Given the description of an element on the screen output the (x, y) to click on. 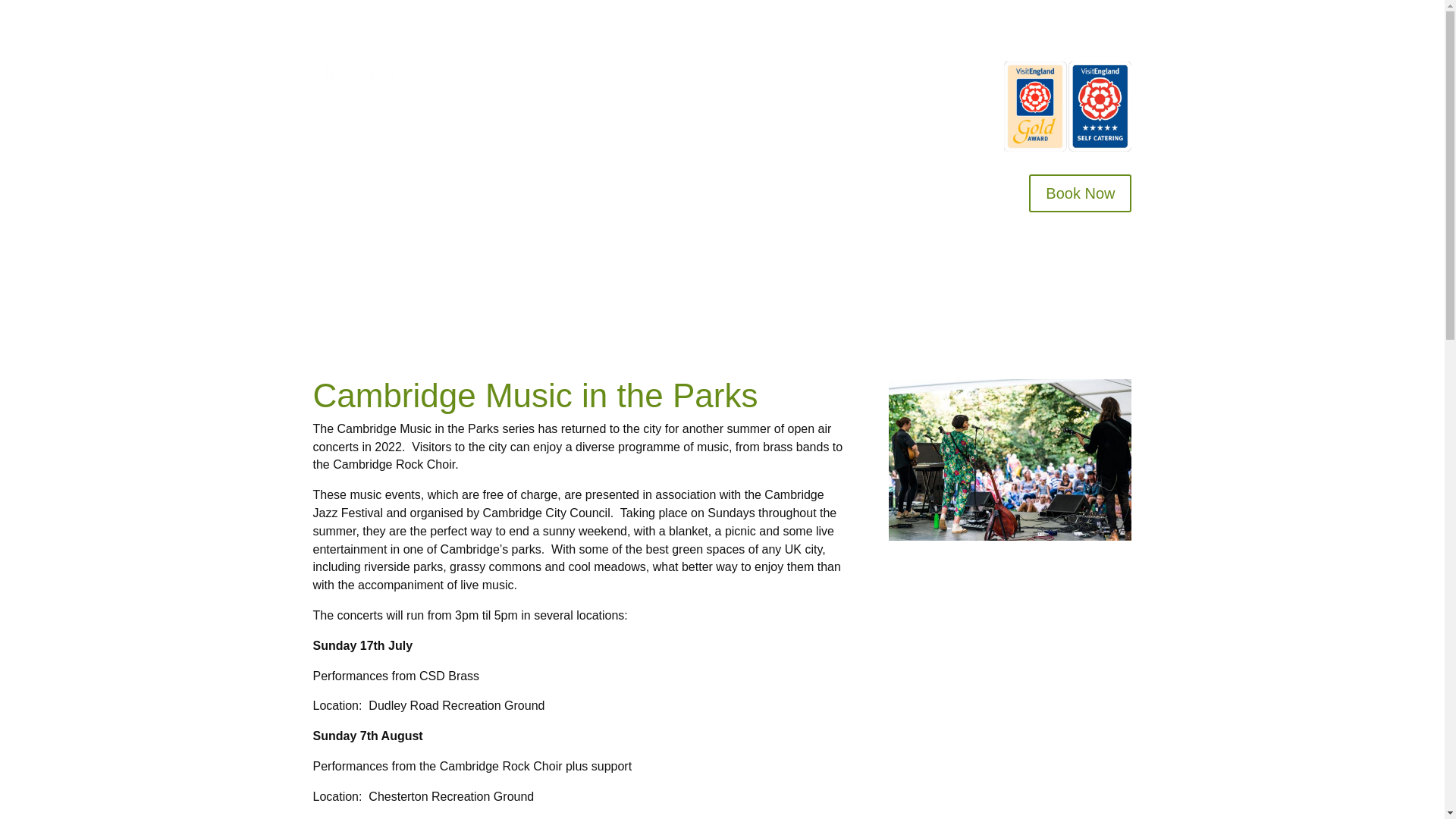
Home (514, 75)
Business (807, 75)
Book! (629, 75)
News (945, 98)
5stargoldVE-sm (1067, 106)
Book Now (1080, 193)
Reviews (683, 75)
Gallery (871, 75)
Groups (739, 75)
Locally (932, 75)
Our Barns (572, 75)
